Given the description of an element on the screen output the (x, y) to click on. 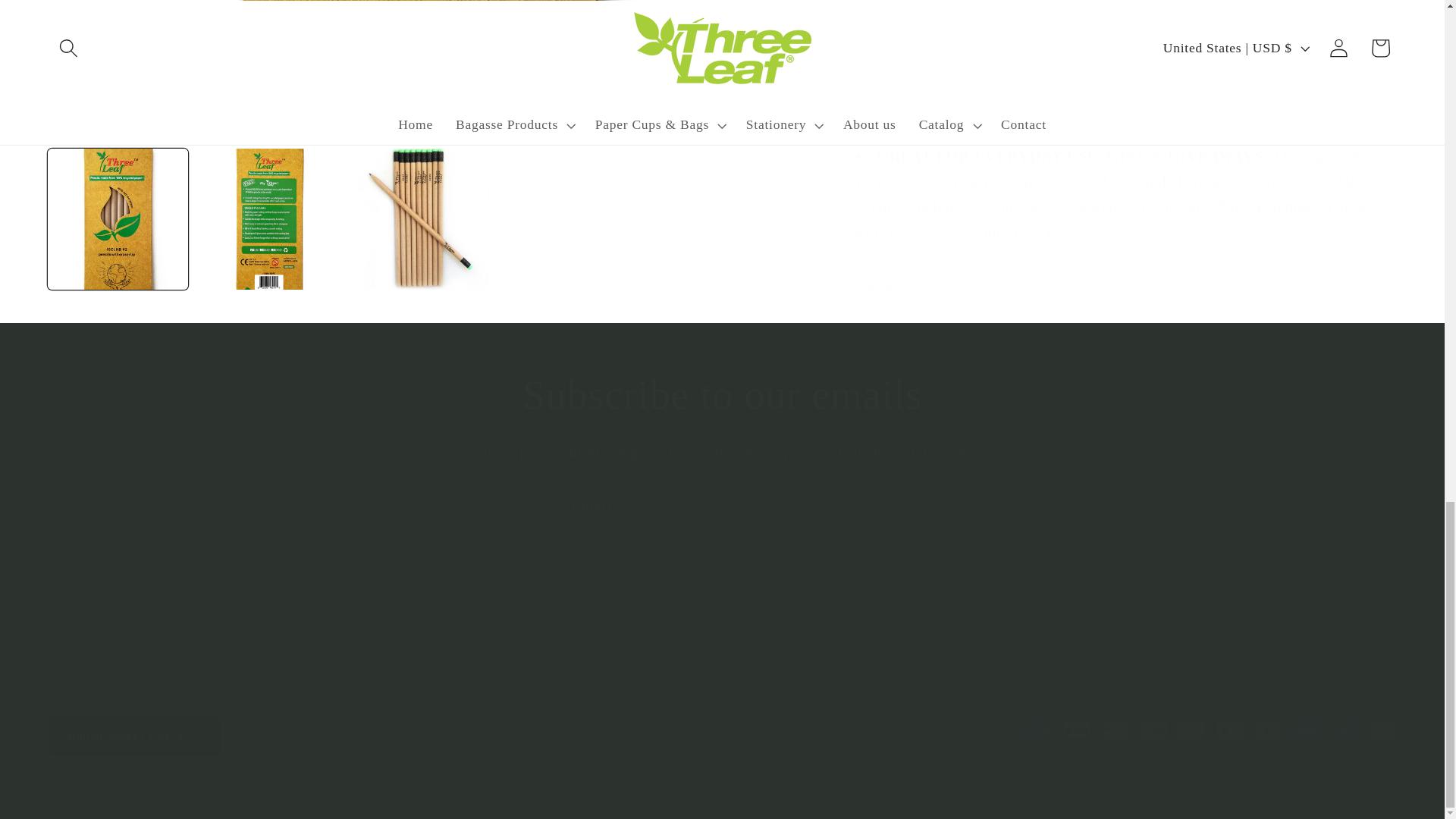
Email (722, 506)
Subscribe to our emails (721, 395)
